Given the description of an element on the screen output the (x, y) to click on. 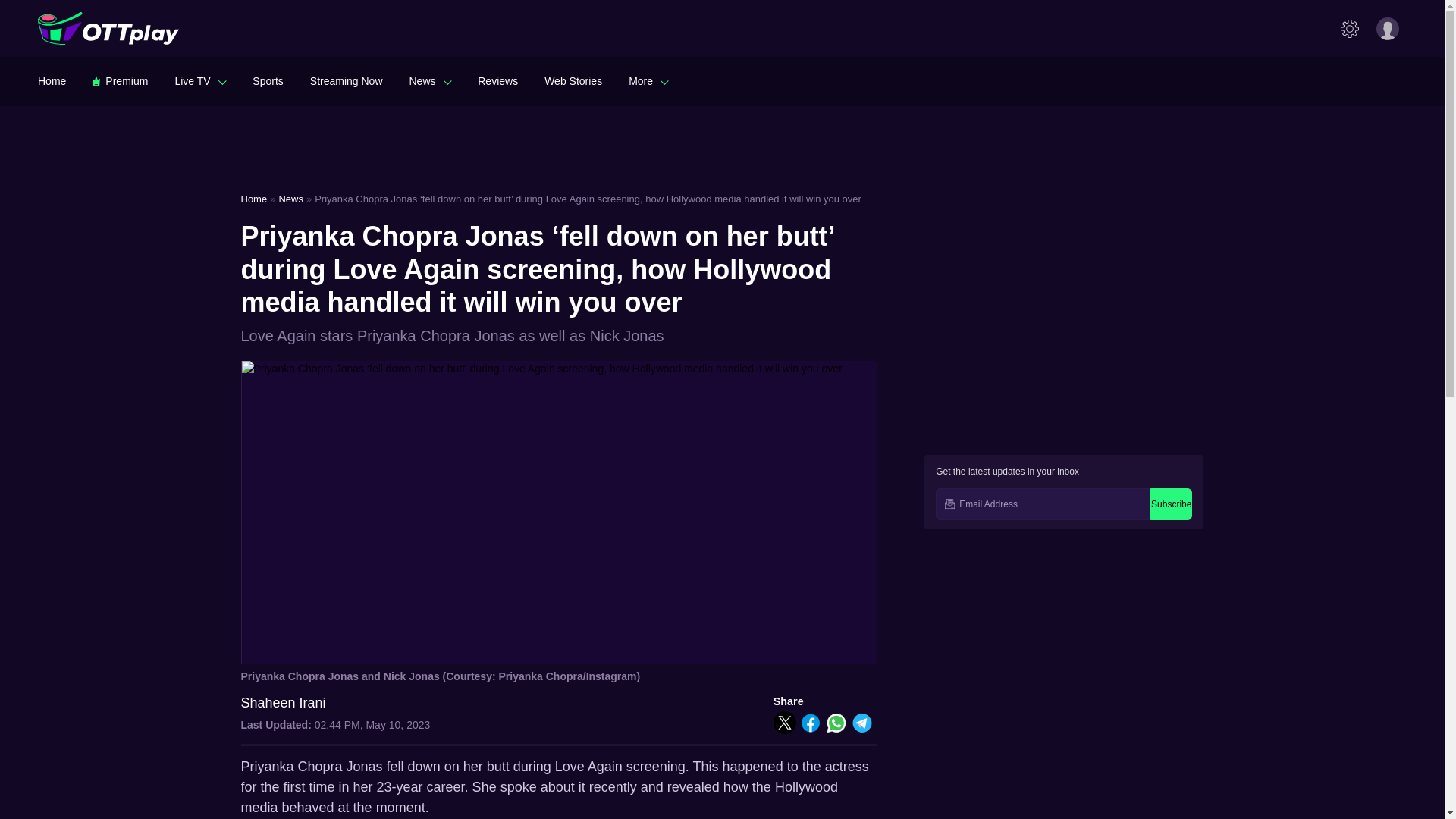
Web Stories (573, 80)
Premium (120, 80)
News (430, 80)
Streaming Now (346, 80)
Live TV (199, 80)
